Given the description of an element on the screen output the (x, y) to click on. 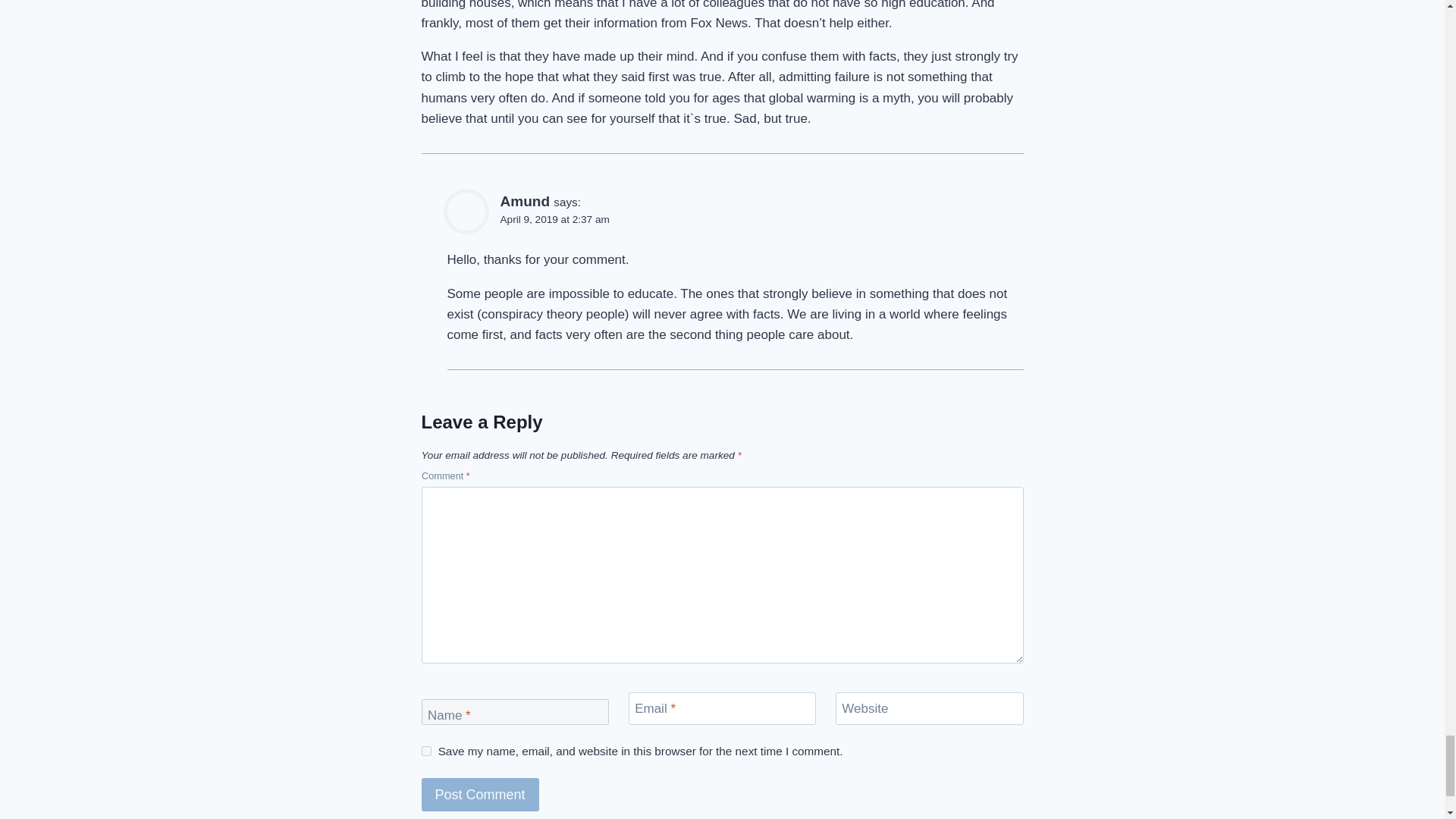
Post Comment (480, 794)
yes (426, 750)
